Given the description of an element on the screen output the (x, y) to click on. 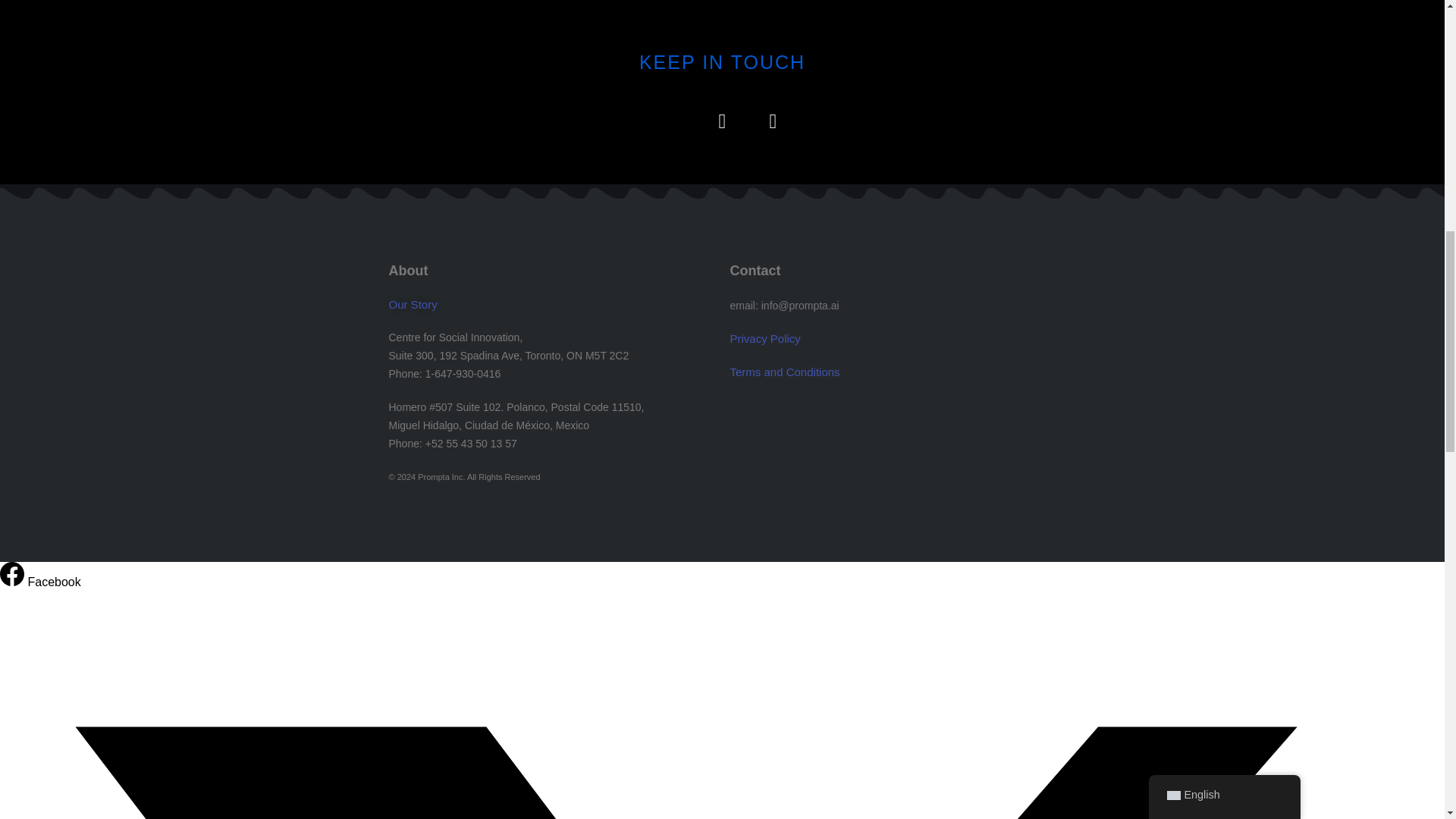
Privacy Policy (764, 338)
Terms and Conditions (784, 371)
Our Story (551, 303)
